Given the description of an element on the screen output the (x, y) to click on. 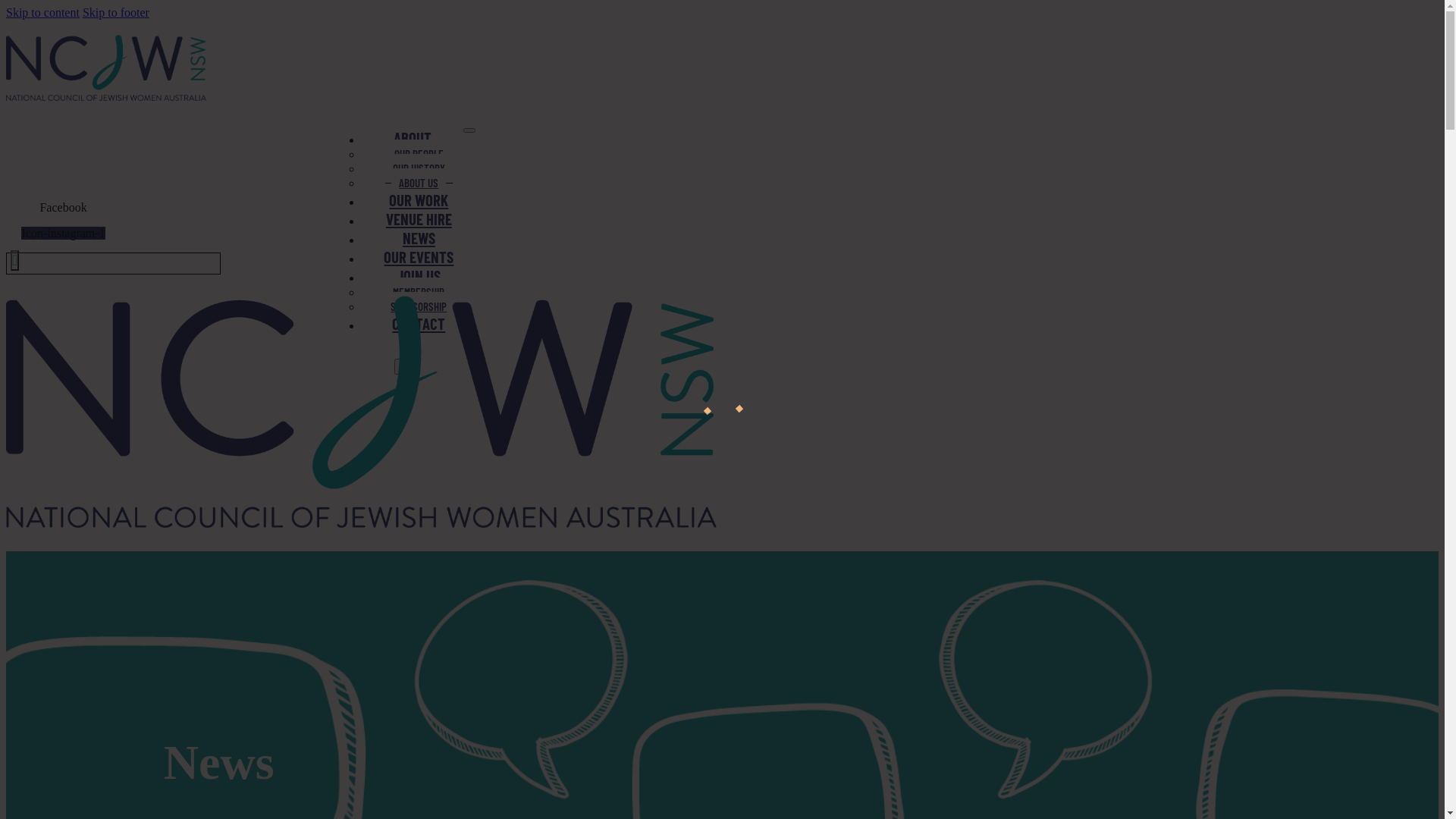
NEWS Element type: text (418, 237)
Icon-instagram-1 Element type: text (62, 232)
Facebook Element type: text (62, 206)
JOIN US Element type: text (418, 275)
VENUE HIRE Element type: text (418, 218)
X Element type: text (403, 366)
OUR PEOPLE Element type: text (418, 154)
ABOUT Element type: text (412, 137)
OUR HISTORY Element type: text (418, 168)
OUR WORK Element type: text (418, 199)
CONTACT Element type: text (418, 322)
ABOUT US Element type: text (418, 182)
SPONSORSHIP Element type: text (418, 305)
MEMBERSHIP Element type: text (418, 292)
Skip to content Element type: text (42, 12)
OUR EVENTS Element type: text (418, 256)
Skip to footer Element type: text (115, 12)
